Given the description of an element on the screen output the (x, y) to click on. 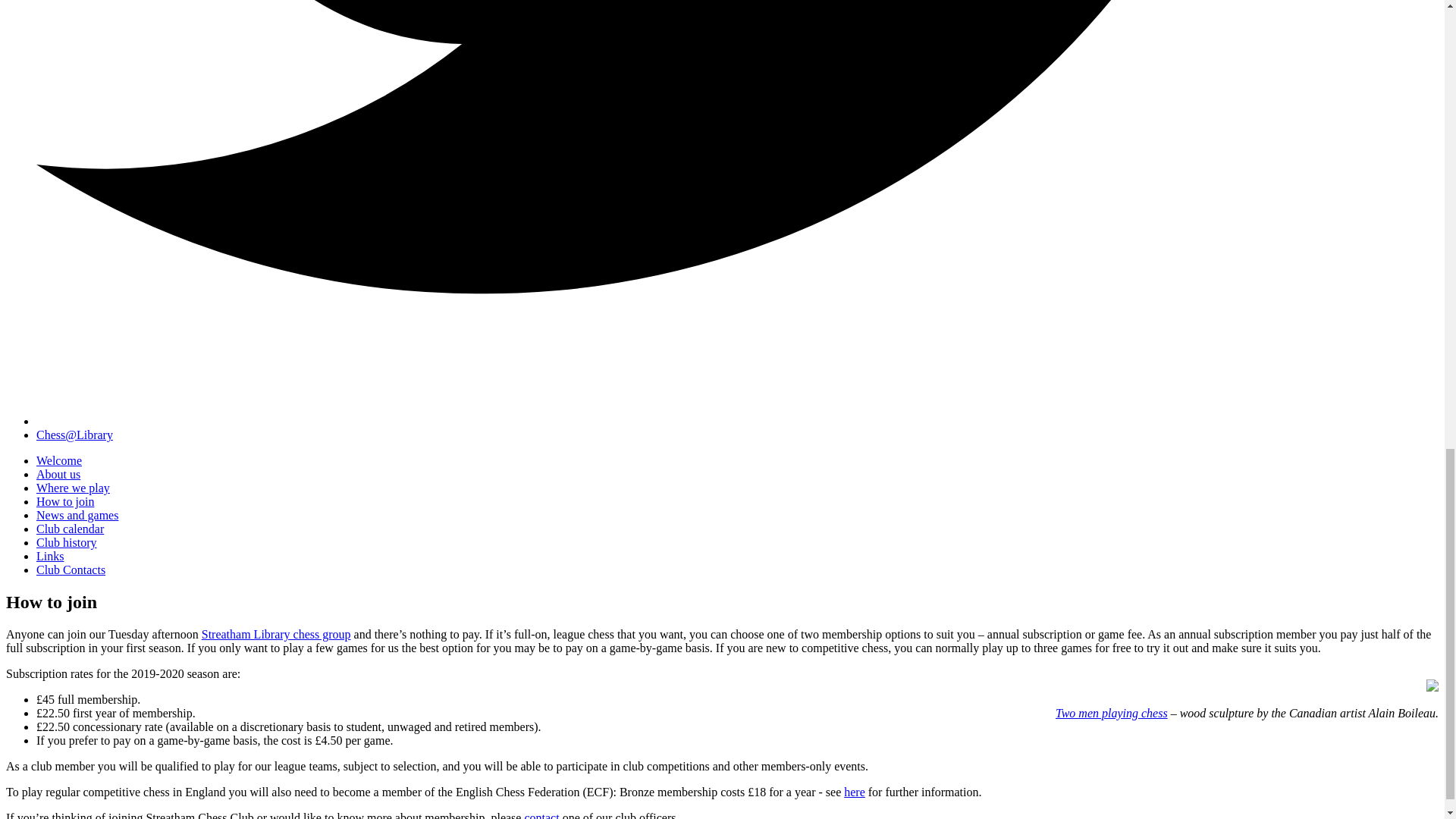
Club Contacts (70, 569)
Welcome (58, 460)
Where we play (73, 487)
Streatham Library chess group (276, 634)
Club history (66, 542)
Club calendar (69, 528)
News and games (76, 514)
here (854, 791)
Links (50, 555)
Two men playing chess (1111, 712)
About us (58, 473)
How to join (65, 501)
